Given the description of an element on the screen output the (x, y) to click on. 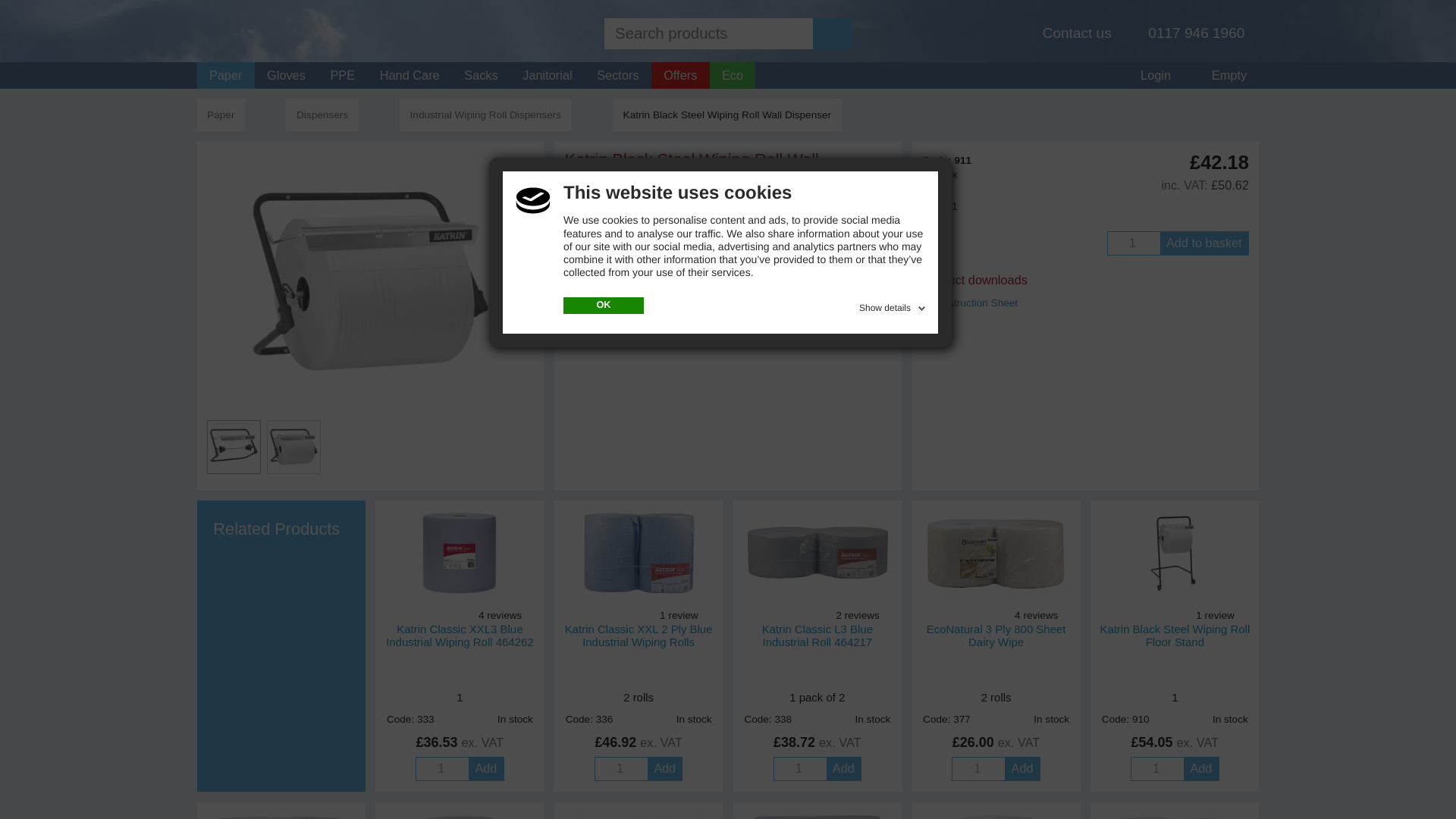
1 (976, 768)
1 (1155, 768)
1 (799, 768)
1 (1132, 242)
1 (440, 768)
OK (603, 305)
Show details (893, 305)
1 (620, 768)
